Given the description of an element on the screen output the (x, y) to click on. 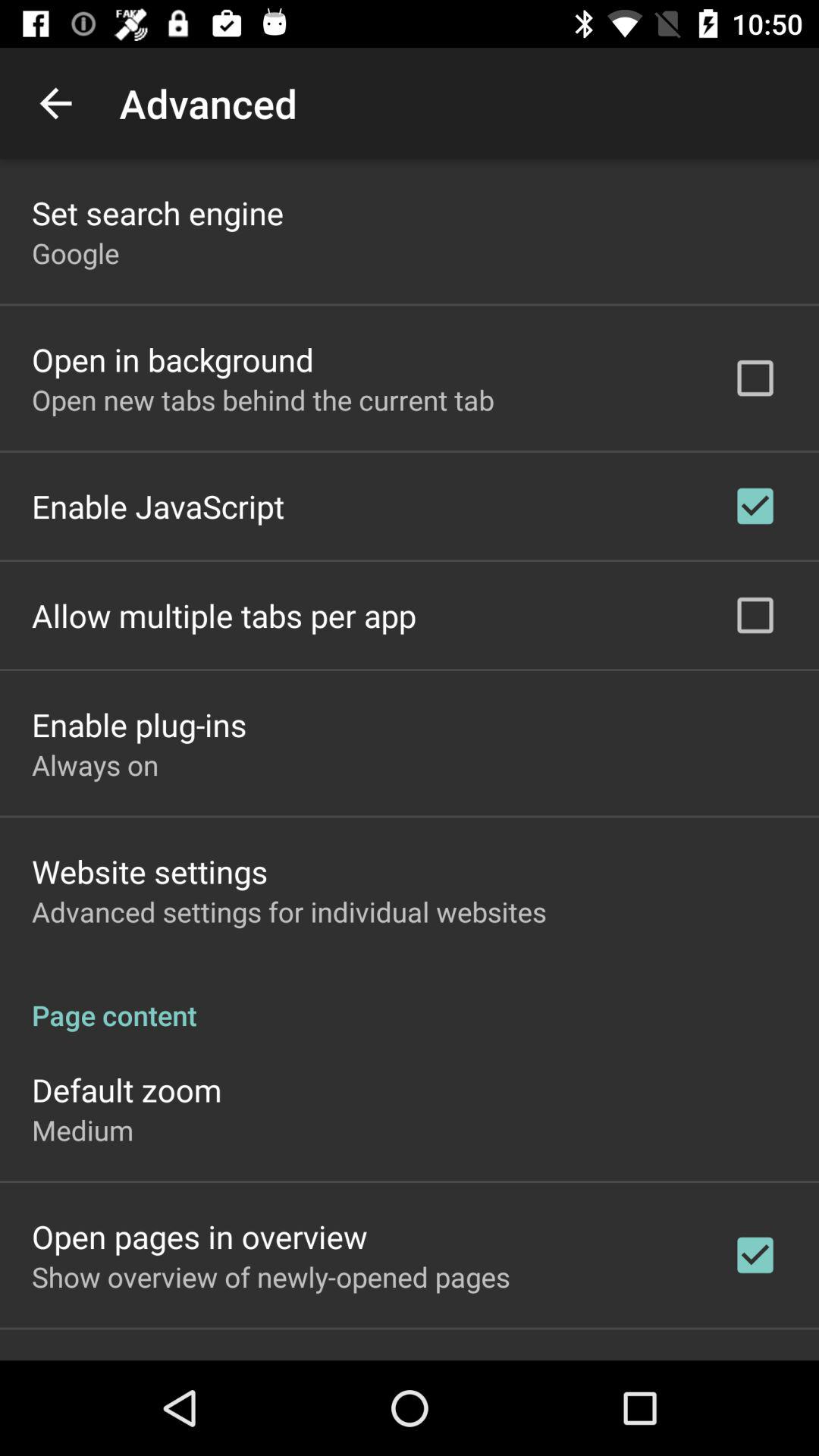
click the show overview of item (270, 1276)
